Given the description of an element on the screen output the (x, y) to click on. 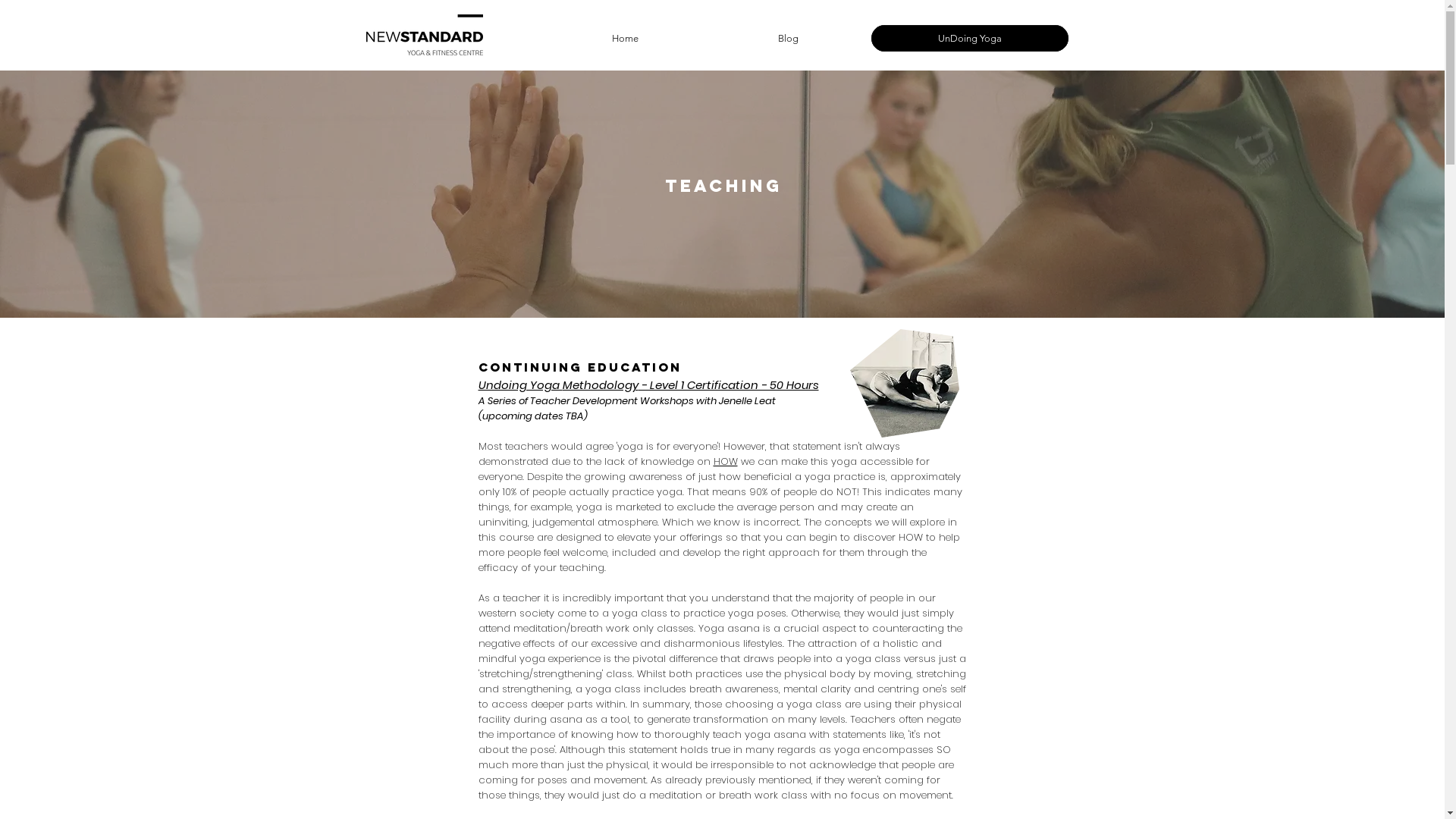
NS BRAND final_front_black.png Element type: hover (423, 34)
UnDoing Yoga Element type: text (968, 38)
Blog Element type: text (788, 38)
Home Element type: text (624, 38)
